Given the description of an element on the screen output the (x, y) to click on. 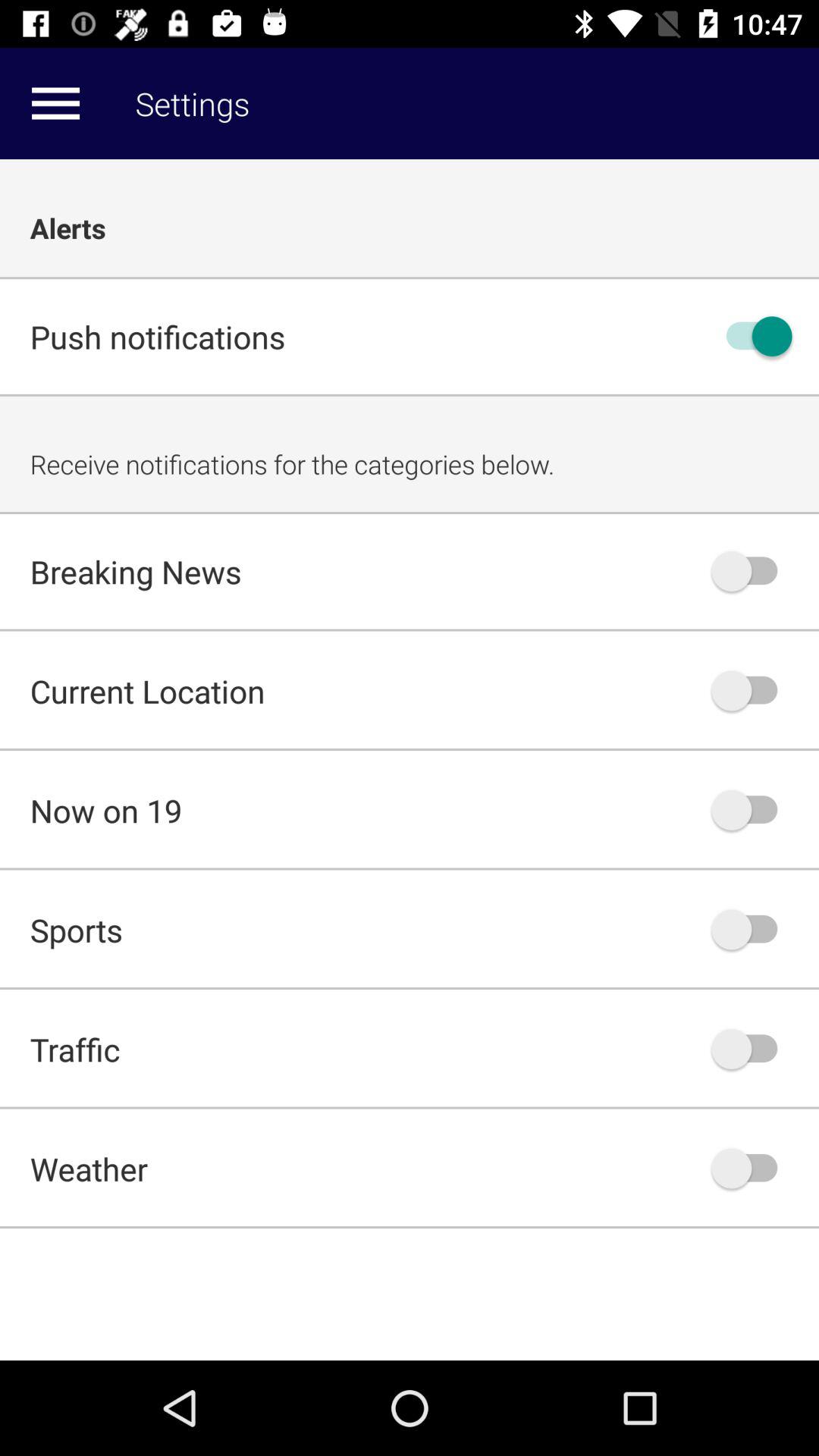
toggle off (751, 929)
